Given the description of an element on the screen output the (x, y) to click on. 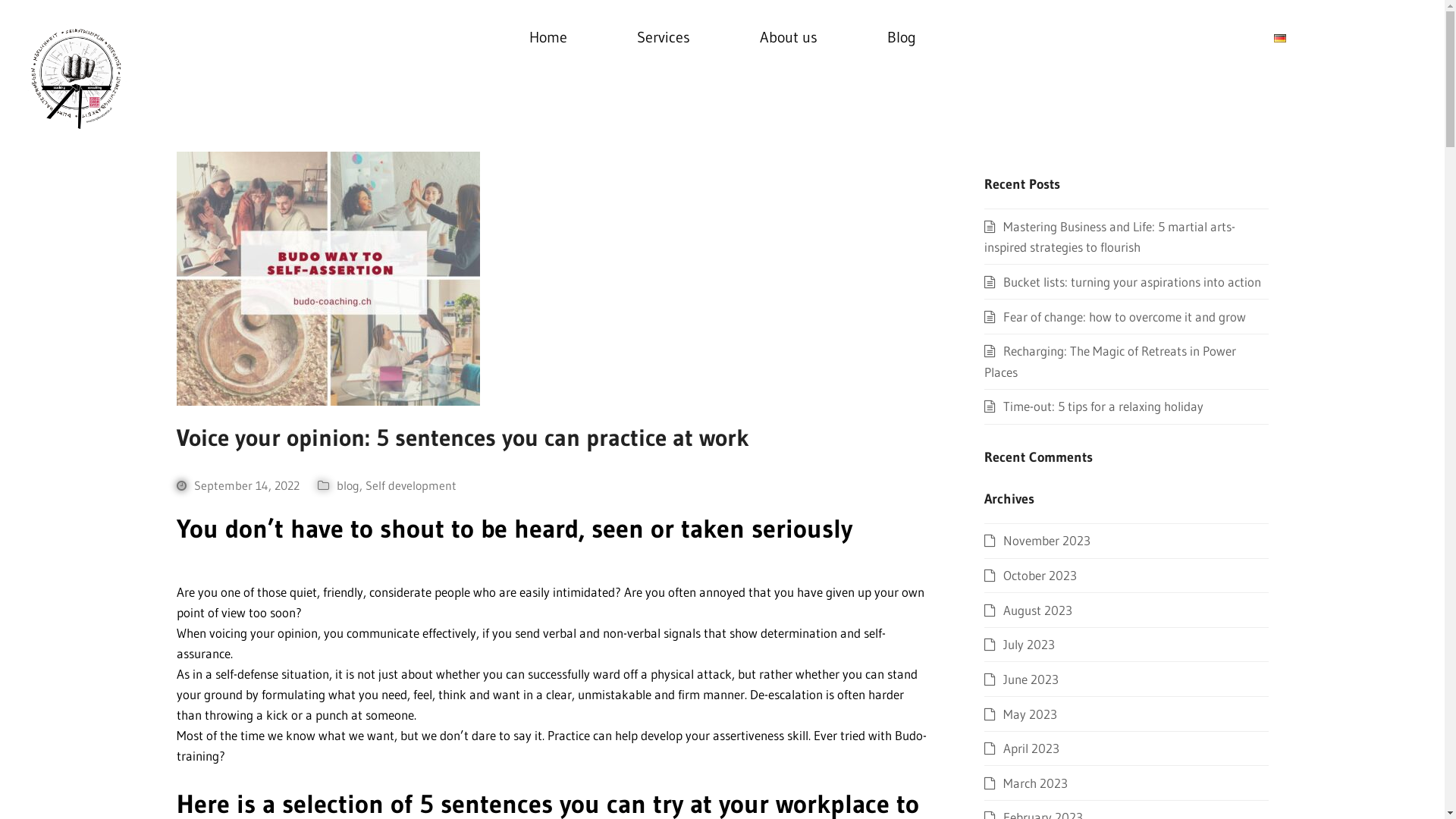
Bucket lists: turning your aspirations into action Element type: text (1122, 281)
Time-out: 5 tips for a relaxing holiday Element type: text (1093, 406)
May 2023 Element type: text (1020, 713)
Recharging: The Magic of Retreats in Power Places Element type: text (1110, 360)
Self development Element type: text (410, 485)
Home Element type: text (548, 37)
Fear of change: how to overcome it and grow Element type: text (1114, 316)
November 2023 Element type: text (1037, 540)
Blog Element type: text (901, 37)
August 2023 Element type: text (1028, 610)
blog Element type: text (347, 485)
October 2023 Element type: text (1030, 575)
July 2023 Element type: text (1019, 644)
Services Element type: text (663, 37)
March 2023 Element type: text (1025, 782)
Contact Element type: text (1363, 37)
About us Element type: text (788, 37)
April 2023 Element type: text (1021, 748)
June 2023 Element type: text (1021, 679)
